Given the description of an element on the screen output the (x, y) to click on. 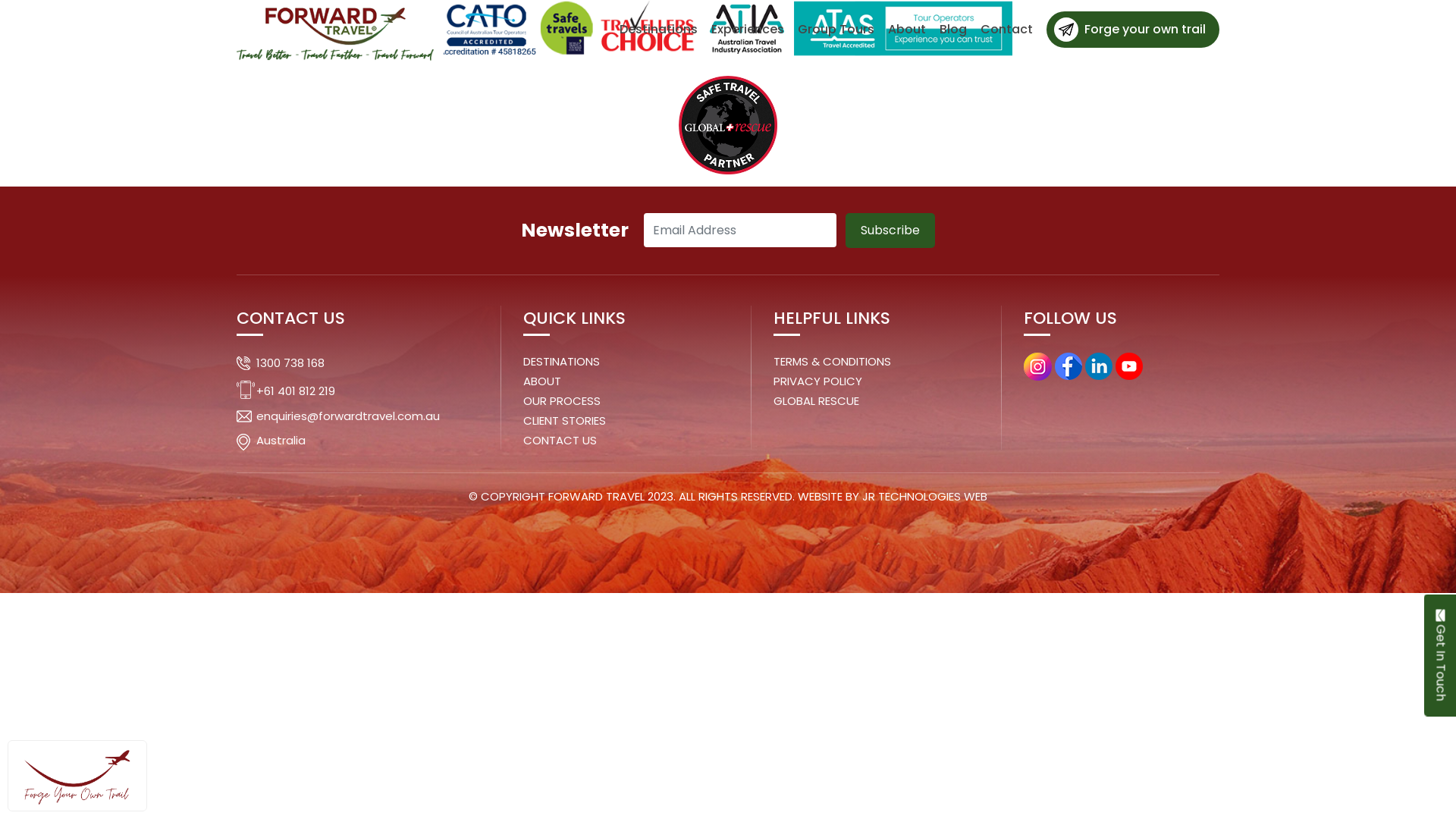
GLOBAL RESCUE Element type: text (816, 400)
Subscribe Element type: text (890, 230)
Forge your own trail Element type: text (1132, 29)
DESTINATIONS Element type: text (561, 361)
PRIVACY POLICY Element type: text (817, 381)
Group Tours Element type: text (835, 29)
+61 401 812 219 Element type: text (295, 389)
CLIENT STORIES Element type: text (564, 420)
1300 738 168 Element type: text (290, 362)
Contact Element type: text (1006, 29)
OUR PROCESS Element type: text (561, 400)
Destinations Element type: text (658, 29)
Experiences Element type: text (747, 29)
TERMS & CONDITIONS Element type: text (832, 361)
Blog Element type: text (952, 29)
JR TECHNOLOGIES WEB Element type: text (924, 496)
About Element type: text (906, 29)
CONTACT US Element type: text (559, 440)
ABOUT Element type: text (542, 381)
enquiries@forwardtravel.com.au Element type: text (347, 415)
